Given the description of an element on the screen output the (x, y) to click on. 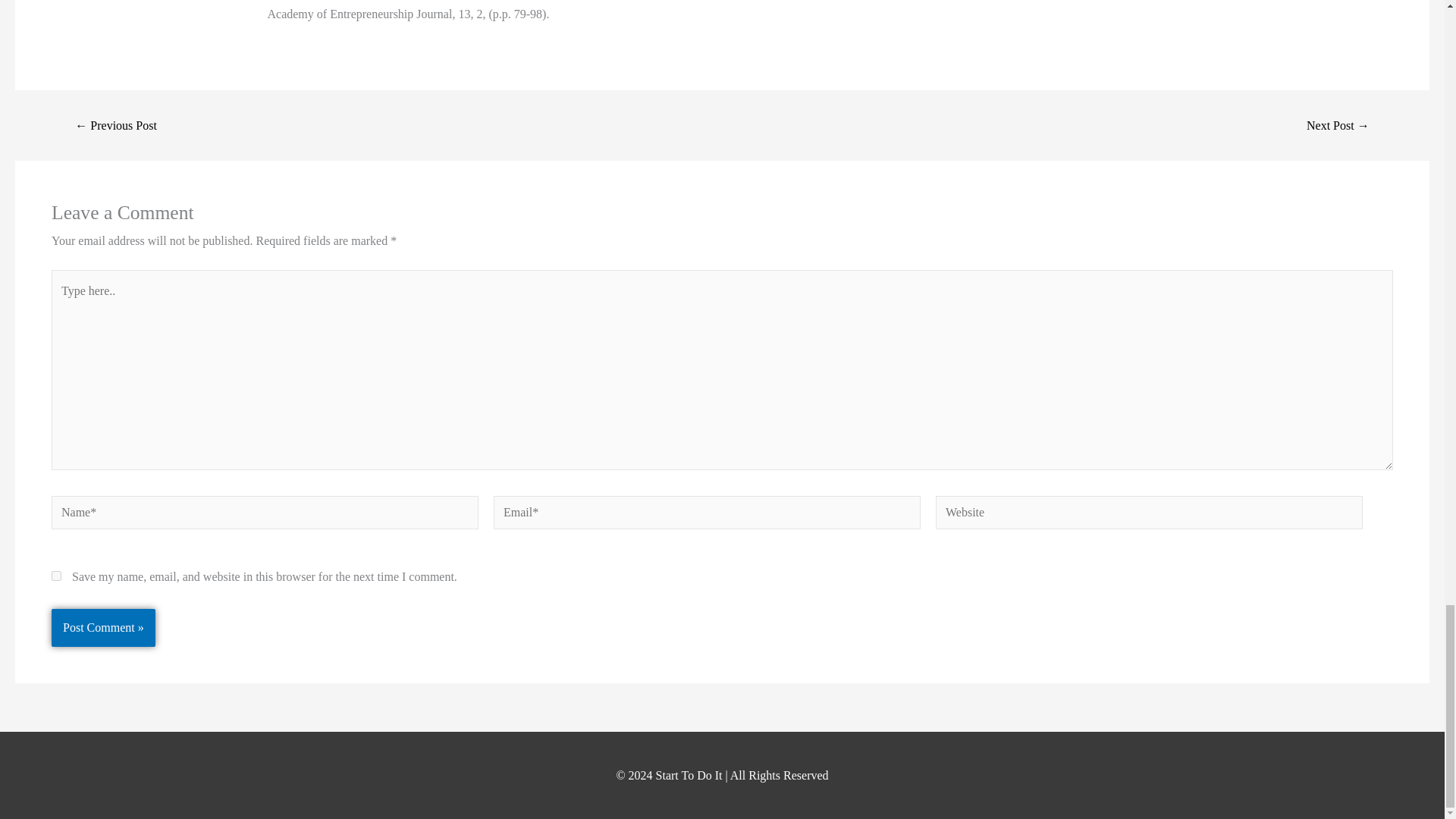
How Much Resilience Should Entrepreneurs Have? (1337, 125)
Successful Entrepreneurs Don't Take Risks (115, 125)
yes (55, 575)
